Given the description of an element on the screen output the (x, y) to click on. 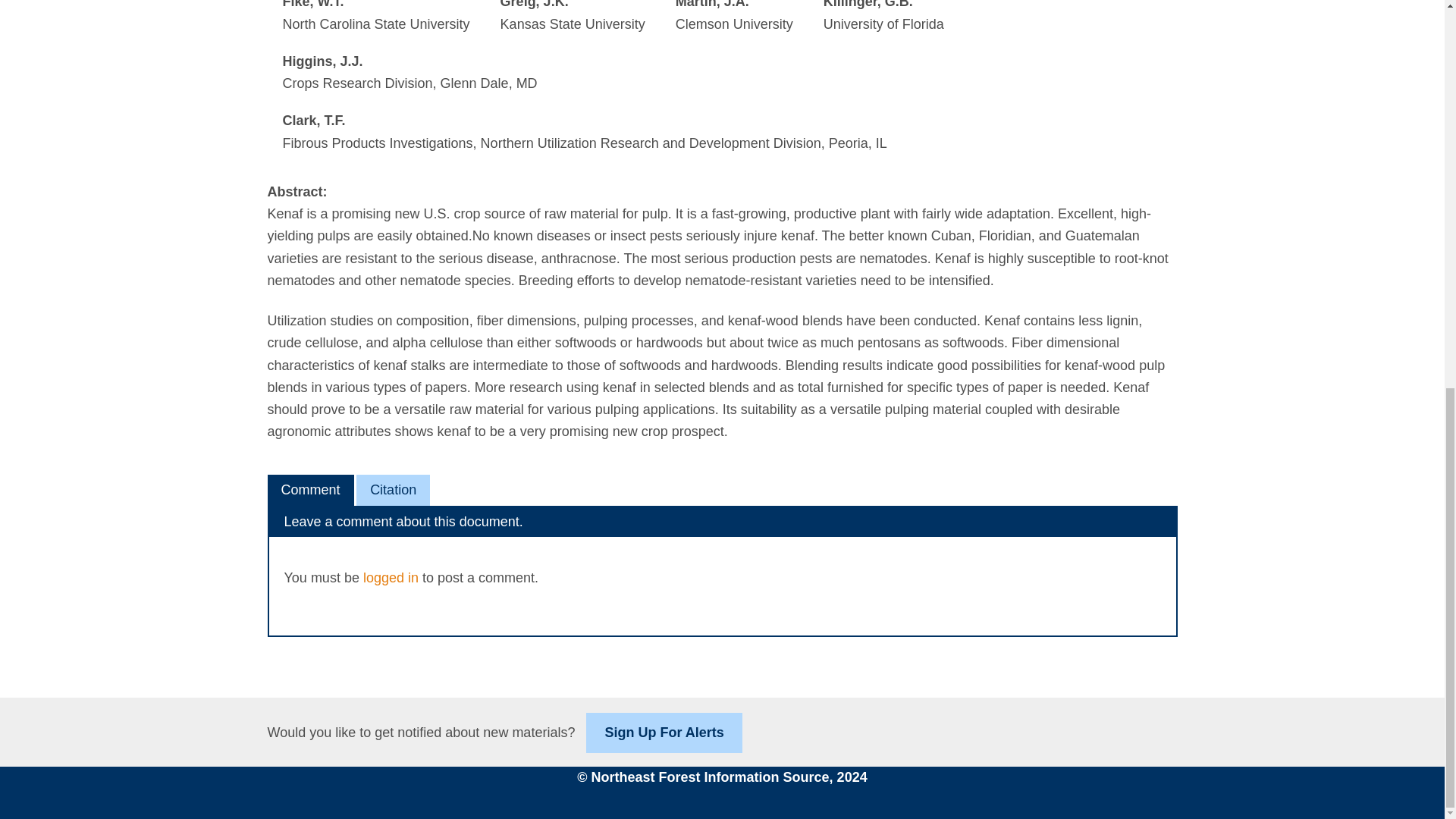
Citation (392, 490)
Comment (309, 490)
logged in (390, 577)
Sign Up For Alerts (663, 732)
